Given the description of an element on the screen output the (x, y) to click on. 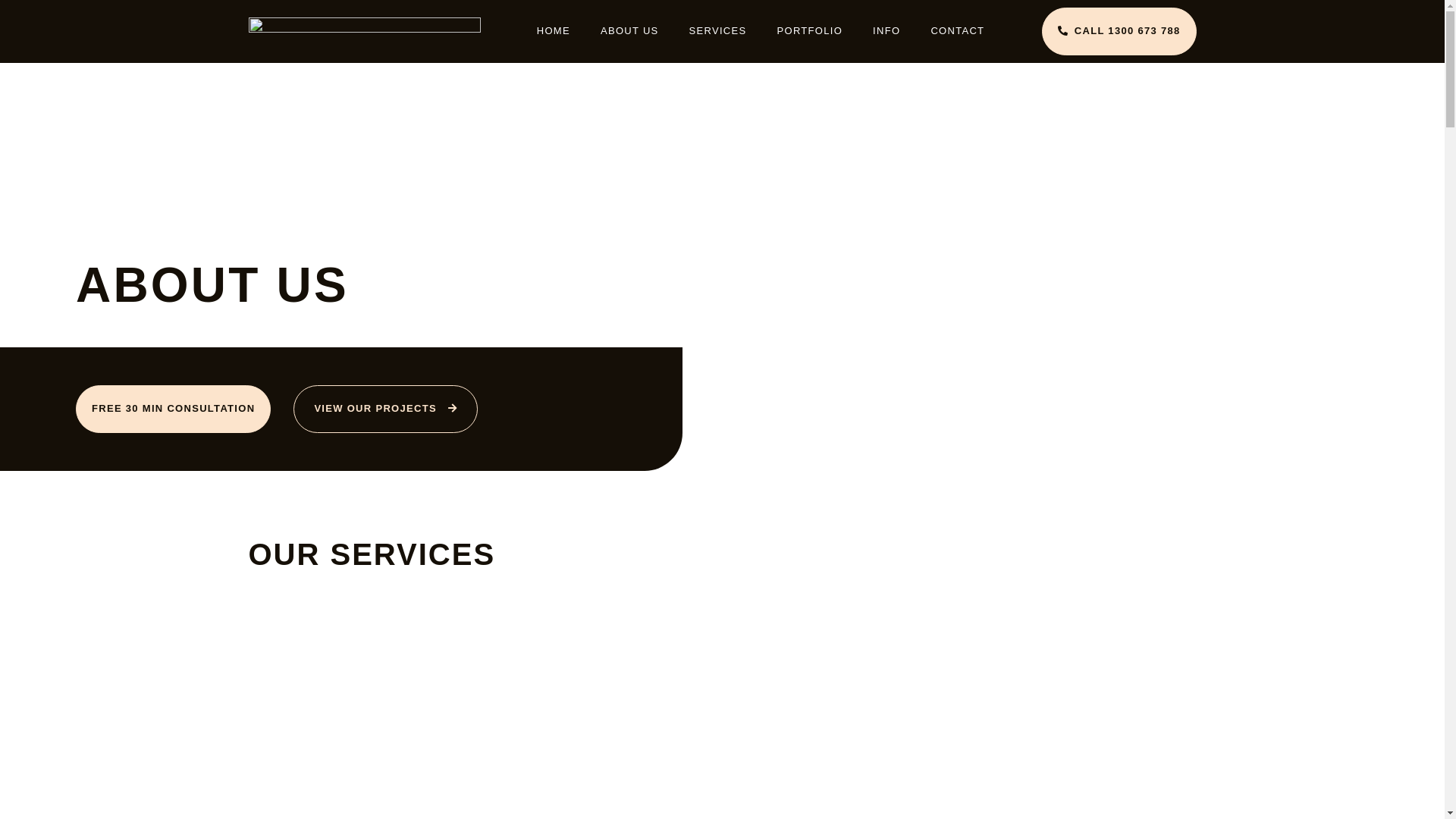
HOME Element type: text (553, 30)
INFO Element type: text (886, 30)
SERVICES Element type: text (718, 30)
VIEW OUR PROJECTS Element type: text (385, 409)
ABOUT US Element type: text (629, 30)
FREE 30 MIN CONSULTATION Element type: text (172, 409)
PORTFOLIO Element type: text (810, 30)
CONTACT Element type: text (957, 30)
CALL 1300 673 788 Element type: text (1118, 31)
